Given the description of an element on the screen output the (x, y) to click on. 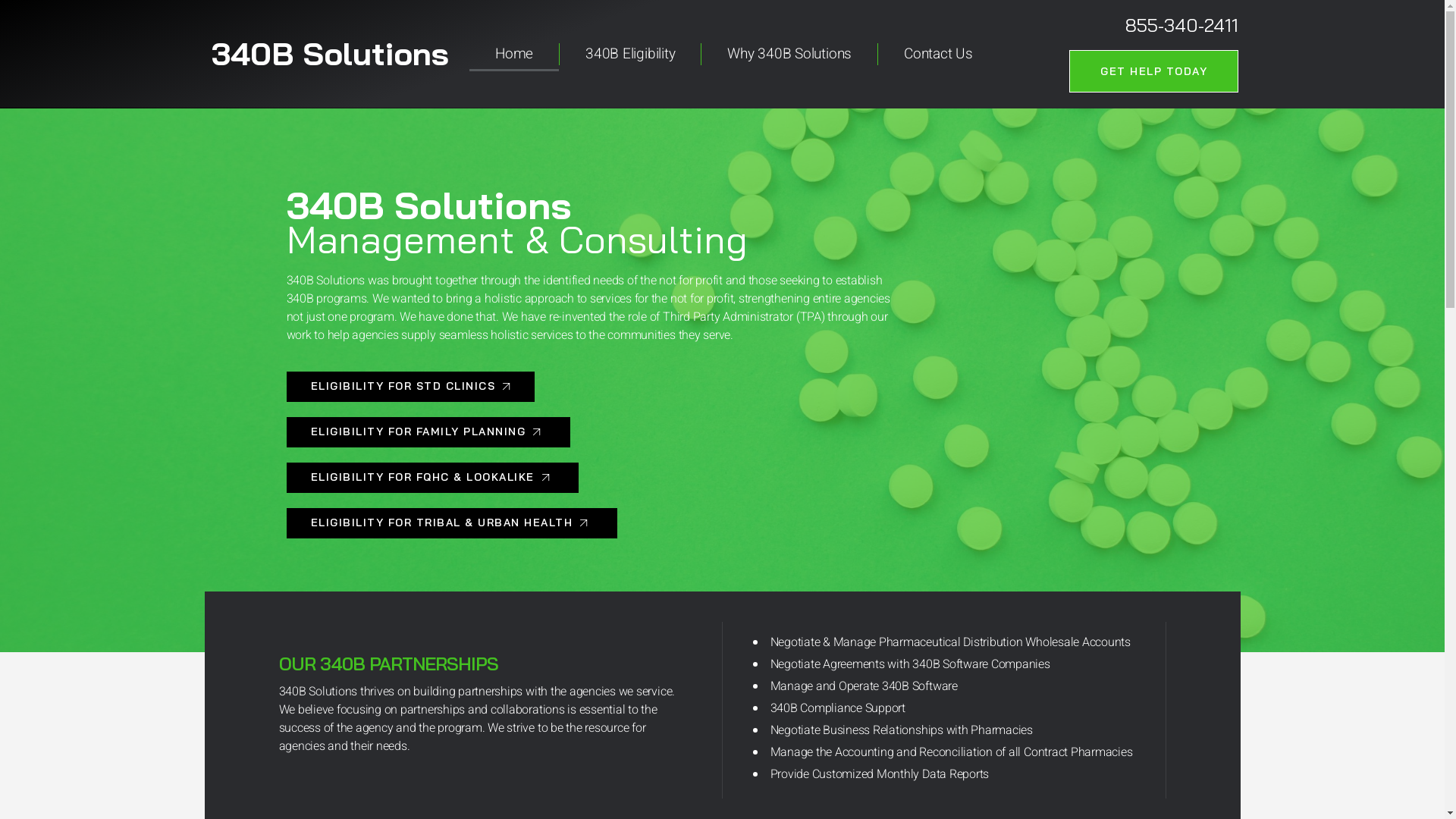
ELIGIBILITY FOR TRIBAL & URBAN HEALTH Element type: text (451, 523)
340B Solutions Element type: text (329, 53)
ELIGIBILITY FOR FQHC & LOOKALIKE Element type: text (432, 477)
Home Element type: text (513, 53)
ELIGIBILITY FOR STD CLINICS Element type: text (410, 386)
GET HELP TODAY Element type: text (1153, 71)
340B Eligibility Element type: text (629, 53)
855-340-2411 Element type: text (1181, 24)
ELIGIBILITY FOR FAMILY PLANNING Element type: text (428, 432)
Why 340B Solutions Element type: text (789, 53)
Contact Us Element type: text (938, 53)
